Given the description of an element on the screen output the (x, y) to click on. 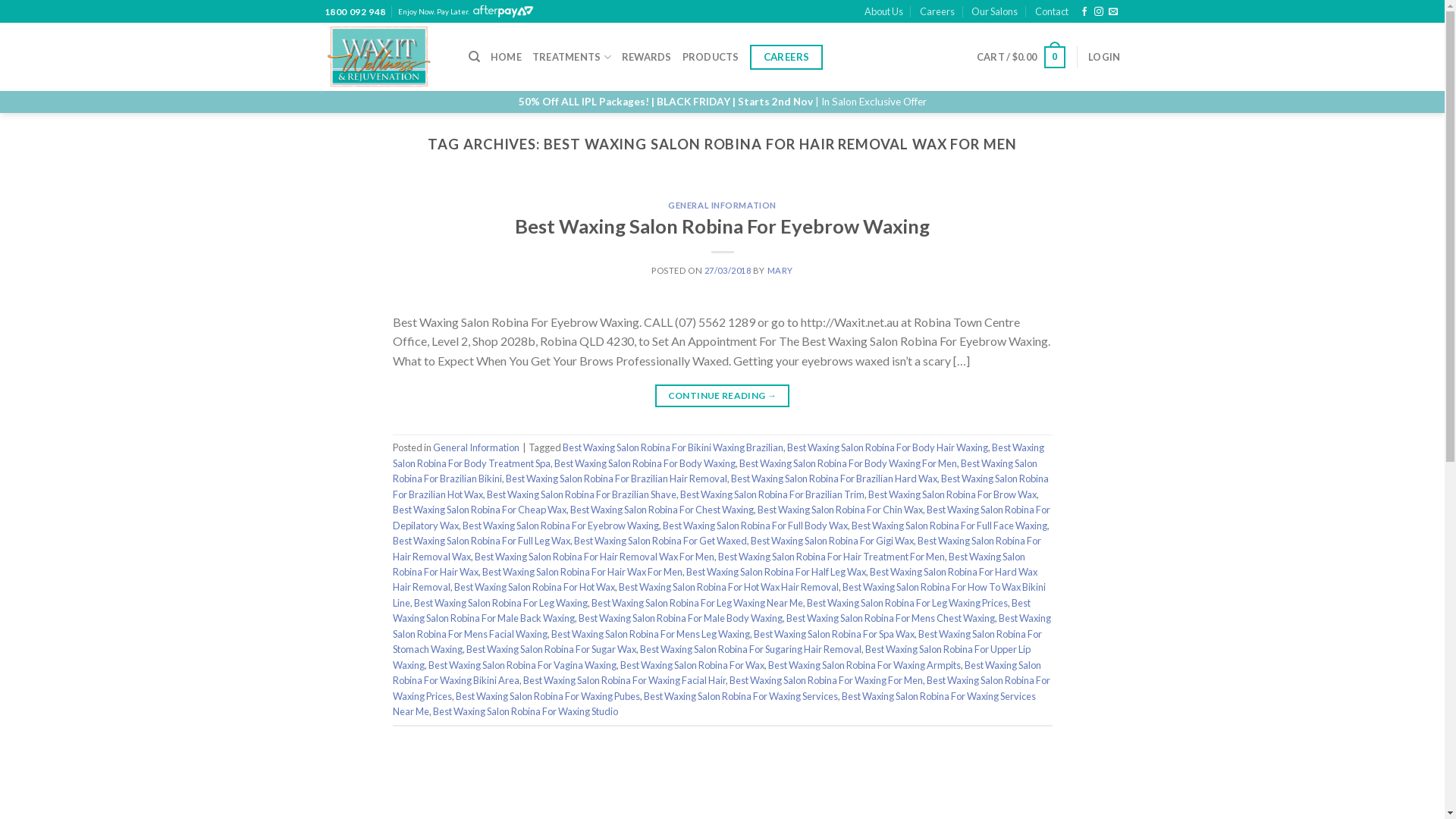
Best Waxing Salon Robina For Brazilian Hair Removal Element type: text (615, 478)
Contact Element type: text (1051, 11)
Best Waxing Salon Robina For Body Treatment Spa Element type: text (718, 454)
Best Waxing Salon Robina For Half Leg Wax Element type: text (775, 571)
MARY Element type: text (780, 270)
PRODUCTS Element type: text (710, 56)
Best Waxing Salon Robina For Body Waxing For Men Element type: text (847, 463)
Best Waxing Salon Robina For Wax Element type: text (692, 664)
Best Waxing Salon Robina For Full Face Waxing Element type: text (948, 525)
Best Waxing Salon Robina For Get Waxed Element type: text (659, 540)
Best Waxing Salon Robina For Sugaring Hair Removal Element type: text (750, 649)
Best Waxing Salon Robina For Hot Wax Hair Removal Element type: text (728, 586)
Best Waxing Salon Robina For Brazilian Hard Wax Element type: text (834, 478)
Best Waxing Salon Robina For Upper Lip Waxing Element type: text (711, 656)
Best Waxing Salon Robina For Waxing Services Near Me Element type: text (713, 703)
Best Waxing Salon Robina For Waxing Studio Element type: text (524, 711)
Best Waxing Salon Robina For Full Body Wax Element type: text (754, 525)
Best Waxing Salon Robina For Body Waxing Element type: text (643, 463)
Best Waxing Salon Robina For Gigi Wax Element type: text (831, 540)
Careers Element type: text (936, 11)
Follow on Instagram Element type: hover (1098, 11)
Best Waxing Salon Robina For Waxing Prices Element type: text (721, 687)
1800 092 948 Element type: text (354, 11)
Best Waxing Salon Robina For Hair Removal Wax For Men Element type: text (594, 556)
27/03/2018 Element type: text (727, 270)
REWARDS Element type: text (646, 56)
Best Waxing Salon Robina For Chin Wax Element type: text (839, 509)
Best Waxing Salon Robina For Brazilian Trim Element type: text (771, 494)
Best Waxing Salon Robina For Cheap Wax Element type: text (479, 509)
Best Waxing Salon Robina For Leg Waxing Prices Element type: text (906, 602)
Our Salons Element type: text (994, 11)
Best Waxing Salon Robina For Body Hair Waxing Element type: text (887, 447)
Best Waxing Salon Robina For Hair Removal Wax Element type: text (716, 547)
Best Waxing Salon Robina For Brazilian Bikini Element type: text (714, 470)
Best Waxing Salon Robina For Waxing For Men Element type: text (825, 680)
Best Waxing Salon Robina For Spa Wax Element type: text (833, 633)
Best Waxing Salon Robina For Chest Waxing Element type: text (661, 509)
Best Waxing Salon Robina For Waxing Facial Hair Element type: text (624, 680)
HOME Element type: text (505, 56)
Best Waxing Salon Robina For Full Leg Wax Element type: text (481, 540)
Wax It - Wellness & Rejuvenation Element type: hover (384, 56)
Best Waxing Salon Robina For Leg Waxing Near Me Element type: text (697, 602)
Follow on Facebook Element type: hover (1083, 11)
Best Waxing Salon Robina For Mens Facial Waxing Element type: text (721, 625)
CART / $0.00
0 Element type: text (1020, 57)
Best Waxing Salon Robina For Waxing Services Element type: text (740, 696)
Best Waxing Salon Robina For Vagina Waxing Element type: text (521, 664)
Best Waxing Salon Robina For Waxing Armpits Element type: text (863, 664)
Best Waxing Salon Robina For Brazilian Shave Element type: text (581, 494)
Best Waxing Salon Robina For Hair Wax For Men Element type: text (582, 571)
Enjoy Now. Pay Later. Element type: text (467, 10)
TREATMENTS Element type: text (571, 57)
Best Waxing Salon Robina For Mens Leg Waxing Element type: text (649, 633)
Best Waxing Salon Robina For Eyebrow Waxing Element type: text (721, 225)
Send us an email Element type: hover (1112, 11)
Best Waxing Salon Robina For Male Back Waxing Element type: text (711, 610)
Best Waxing Salon Robina For Sugar Wax Element type: text (550, 649)
General Information Element type: text (475, 447)
GENERAL INFORMATION Element type: text (722, 205)
Best Waxing Salon Robina For Bikini Waxing Brazilian Element type: text (672, 447)
Best Waxing Salon Robina For Hard Wax Hair Removal Element type: text (714, 579)
Best Waxing Salon Robina For Waxing Bikini Area Element type: text (716, 672)
Best Waxing Salon Robina For Mens Chest Waxing Element type: text (889, 617)
Best Waxing Salon Robina For Stomach Waxing Element type: text (716, 641)
Best Waxing Salon Robina For Depilatory Wax Element type: text (721, 516)
Best Waxing Salon Robina For Hair Wax Element type: text (708, 563)
About Us Element type: text (883, 11)
Best Waxing Salon Robina For Waxing Pubes Element type: text (547, 696)
Best Waxing Salon Robina For Brow Wax Element type: text (951, 494)
Best Waxing Salon Robina For Eyebrow Waxing Element type: text (560, 525)
Best Waxing Salon Robina For Brazilian Hot Wax Element type: text (720, 485)
LOGIN Element type: text (1104, 56)
Best Waxing Salon Robina For Leg Waxing Element type: text (500, 602)
Best Waxing Salon Robina For Hot Wax Element type: text (533, 586)
Best Waxing Salon Robina For How To Wax Bikini Line Element type: text (718, 594)
Best Waxing Salon Robina For Male Body Waxing Element type: text (679, 617)
CAREERS Element type: text (785, 56)
Best Waxing Salon Robina For Hair Treatment For Men Element type: text (830, 556)
